Given the description of an element on the screen output the (x, y) to click on. 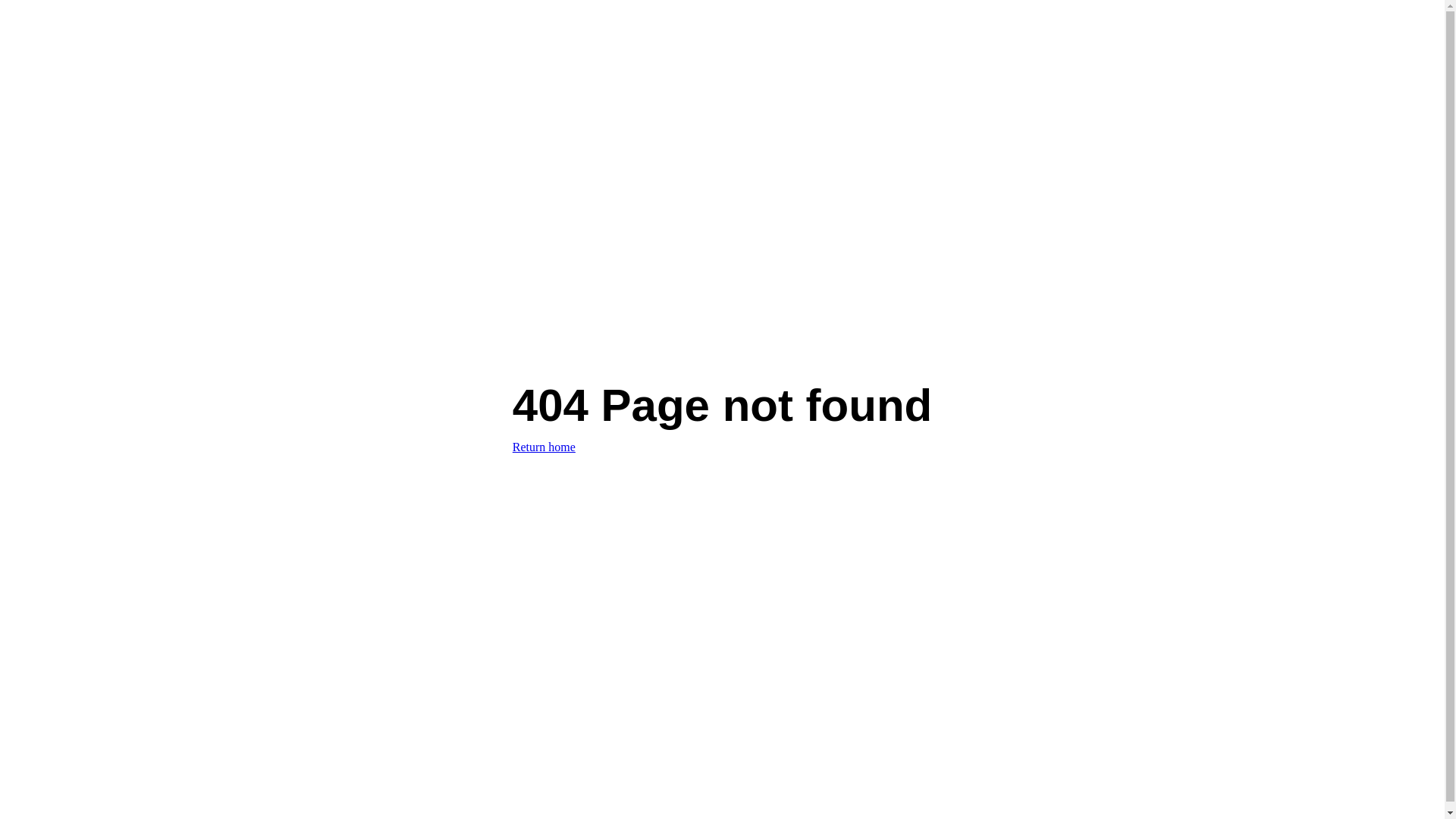
Return home Element type: text (543, 446)
